Given the description of an element on the screen output the (x, y) to click on. 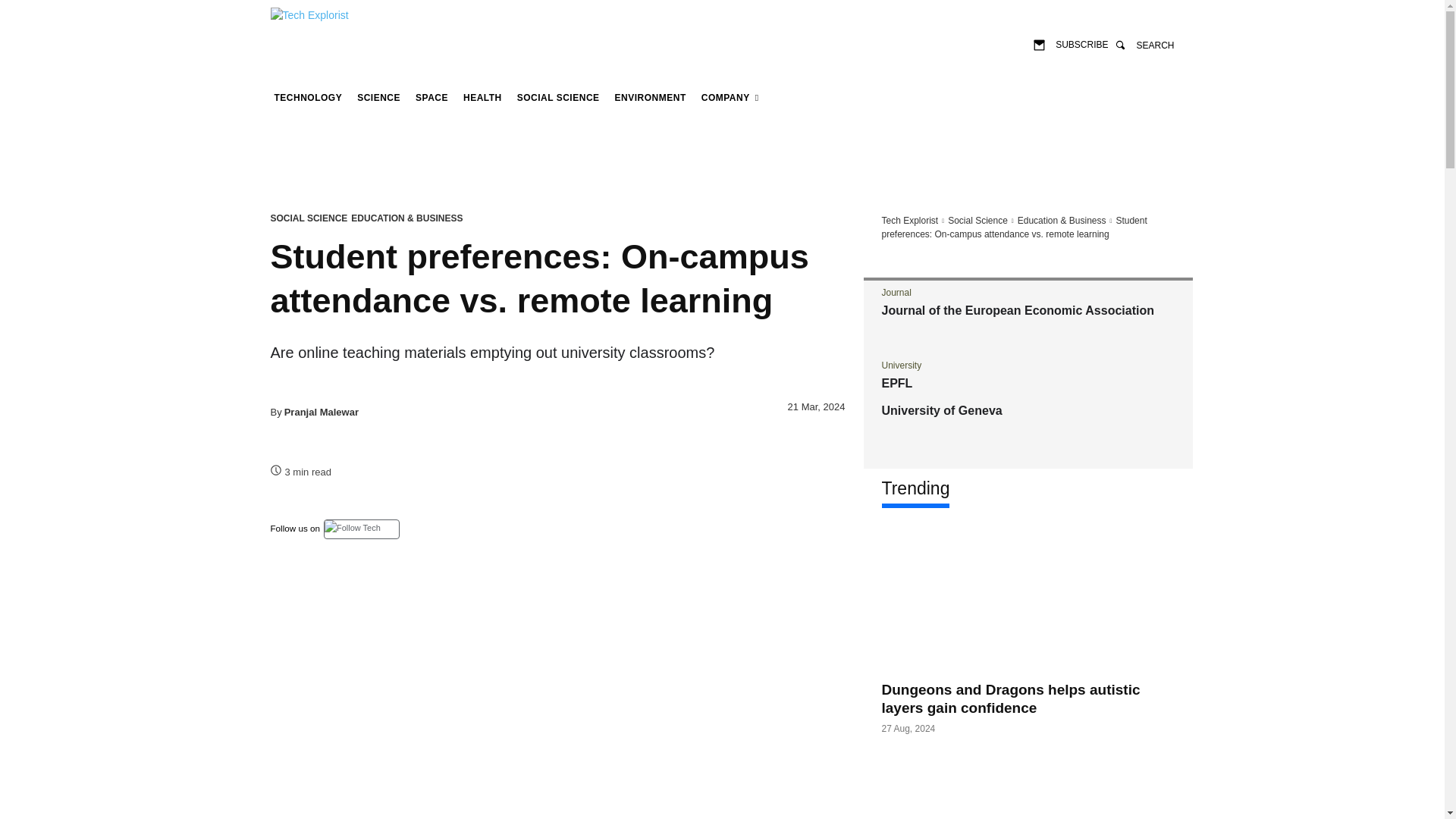
SOCIAL SCIENCE (558, 97)
Technology (307, 97)
SCIENCE (378, 97)
COMPANY (729, 97)
Health (482, 97)
Tech Explorist Home (908, 220)
SUBSCRIBE (1070, 43)
HEALTH (482, 97)
SPACE (431, 97)
TECHNOLOGY (307, 97)
